Given the description of an element on the screen output the (x, y) to click on. 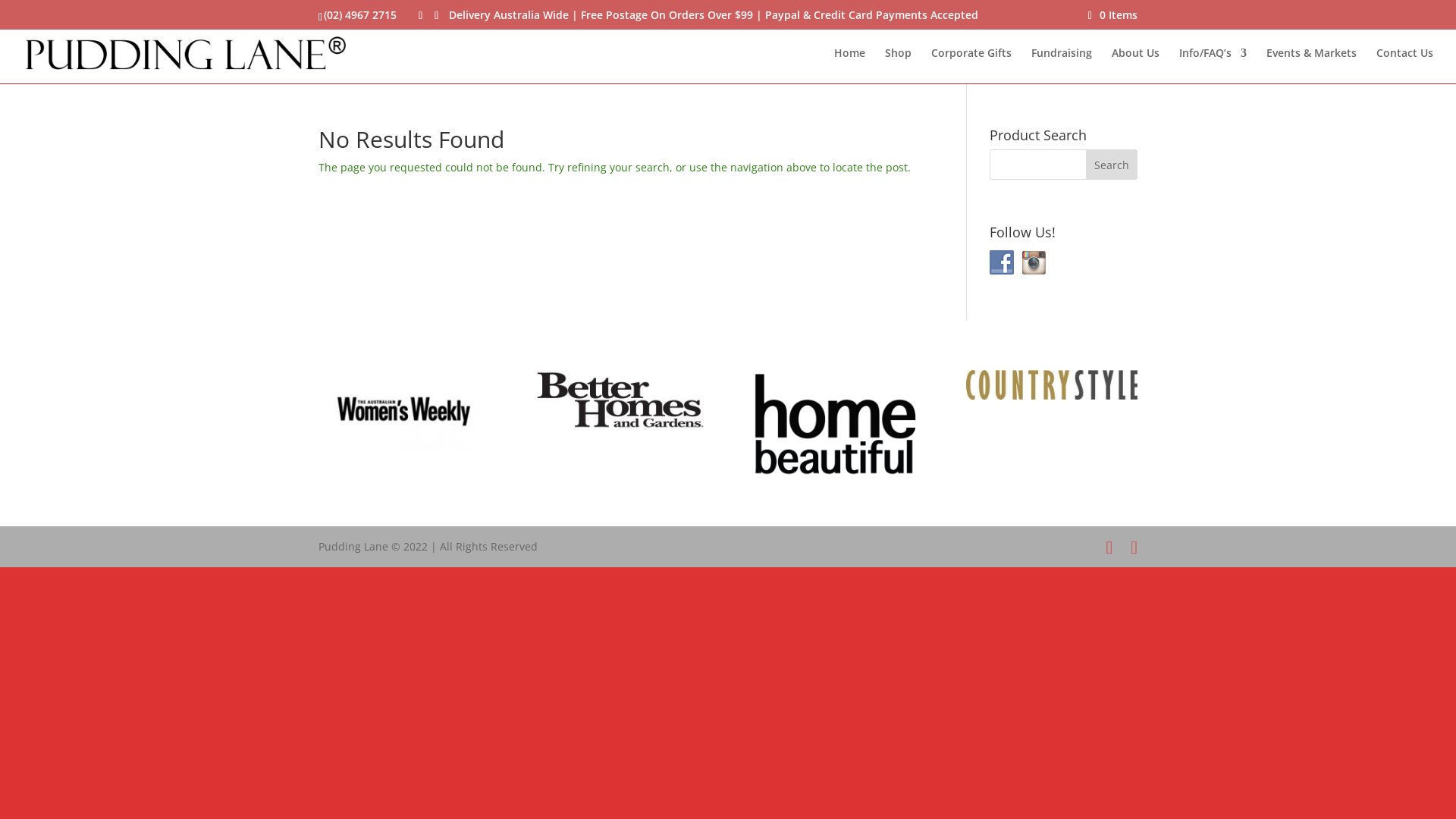
Puddinglane Facebook Element type: hover (1001, 262)
Fundraising Element type: text (1061, 65)
About Us Element type: text (1135, 65)
Events & Markets Element type: text (1311, 65)
Search Element type: text (1111, 164)
0 Items Element type: text (1112, 14)
Puddinglane Instagram Element type: hover (1033, 262)
Partners Element type: hover (403, 410)
Home Element type: text (849, 65)
Shop Element type: text (897, 65)
Contact Us Element type: text (1404, 65)
Corporate Gifts Element type: text (971, 65)
